Given the description of an element on the screen output the (x, y) to click on. 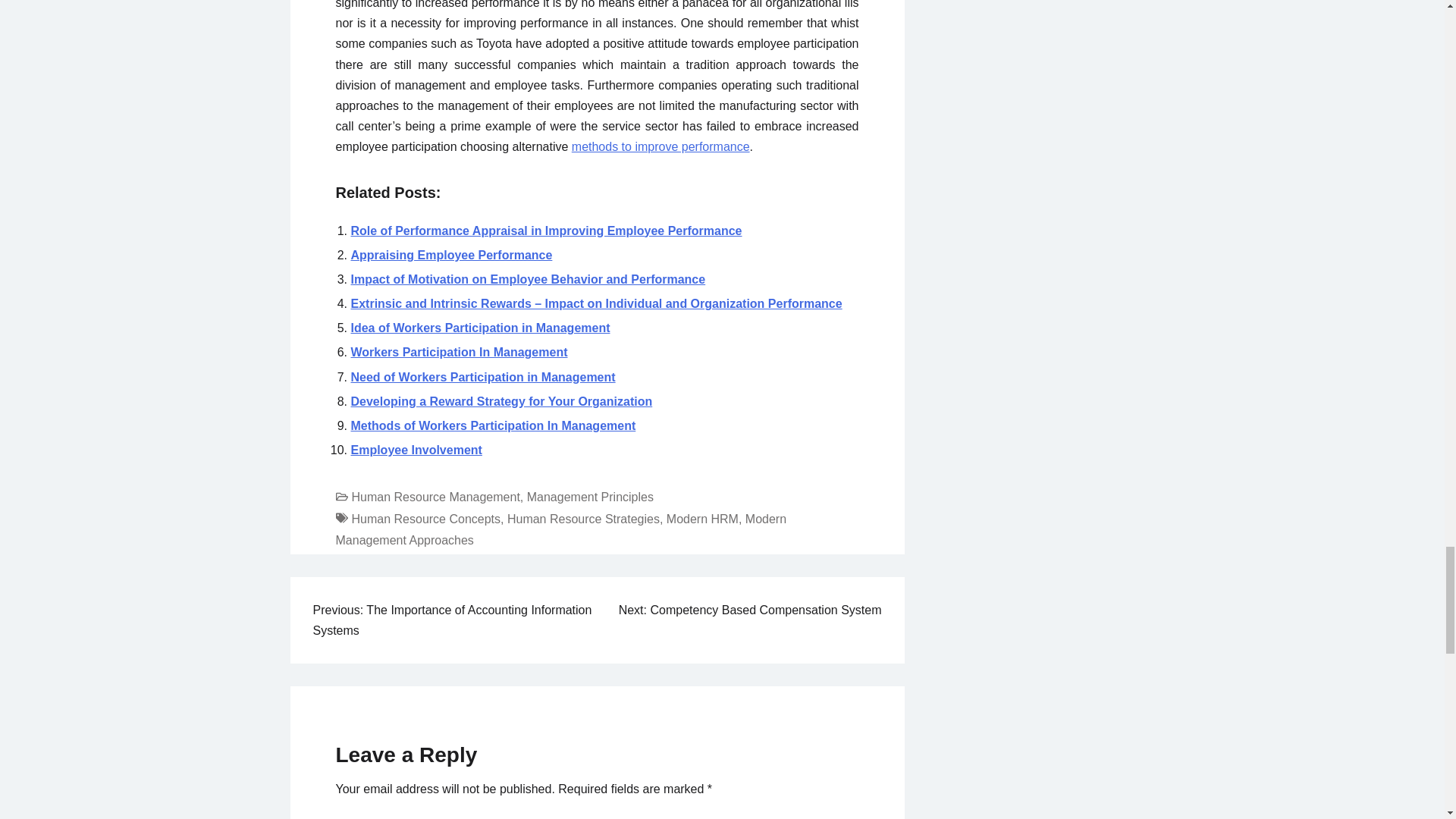
methods to improve performance (660, 146)
Developing a Reward Strategy for Your Organization (501, 400)
Employee Involvement (415, 449)
Methods of Workers Participation In Management (492, 425)
Workers Participation In Management (458, 351)
Impact of Motivation on Employee Behavior and Performance (527, 278)
Appraising Employee Performance (450, 254)
Impact of Motivation on Employee Behavior and Performance (527, 278)
Idea of Workers Participation in Management (480, 327)
Need of Workers Participation in Management (482, 377)
Idea of Workers Participation in Management (480, 327)
Workers Participation In Management (458, 351)
Appraising Employee Performance (450, 254)
